Given the description of an element on the screen output the (x, y) to click on. 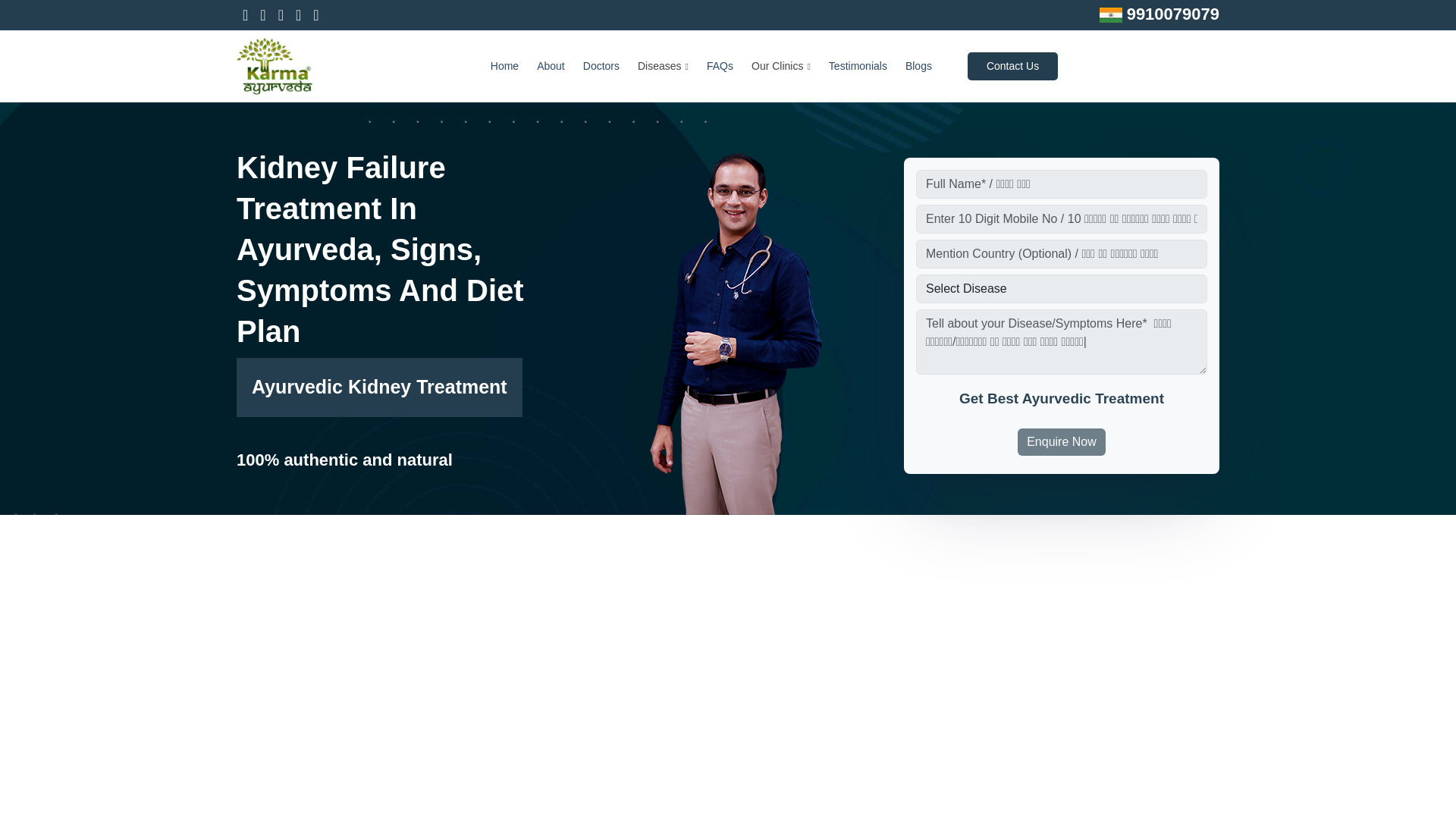
Doctors (600, 65)
FAQs (719, 65)
Diseases (663, 65)
Our Clinics (780, 65)
Home (504, 65)
Enquire Now (1061, 441)
About (550, 65)
 9910079079 (1171, 13)
